Given the description of an element on the screen output the (x, y) to click on. 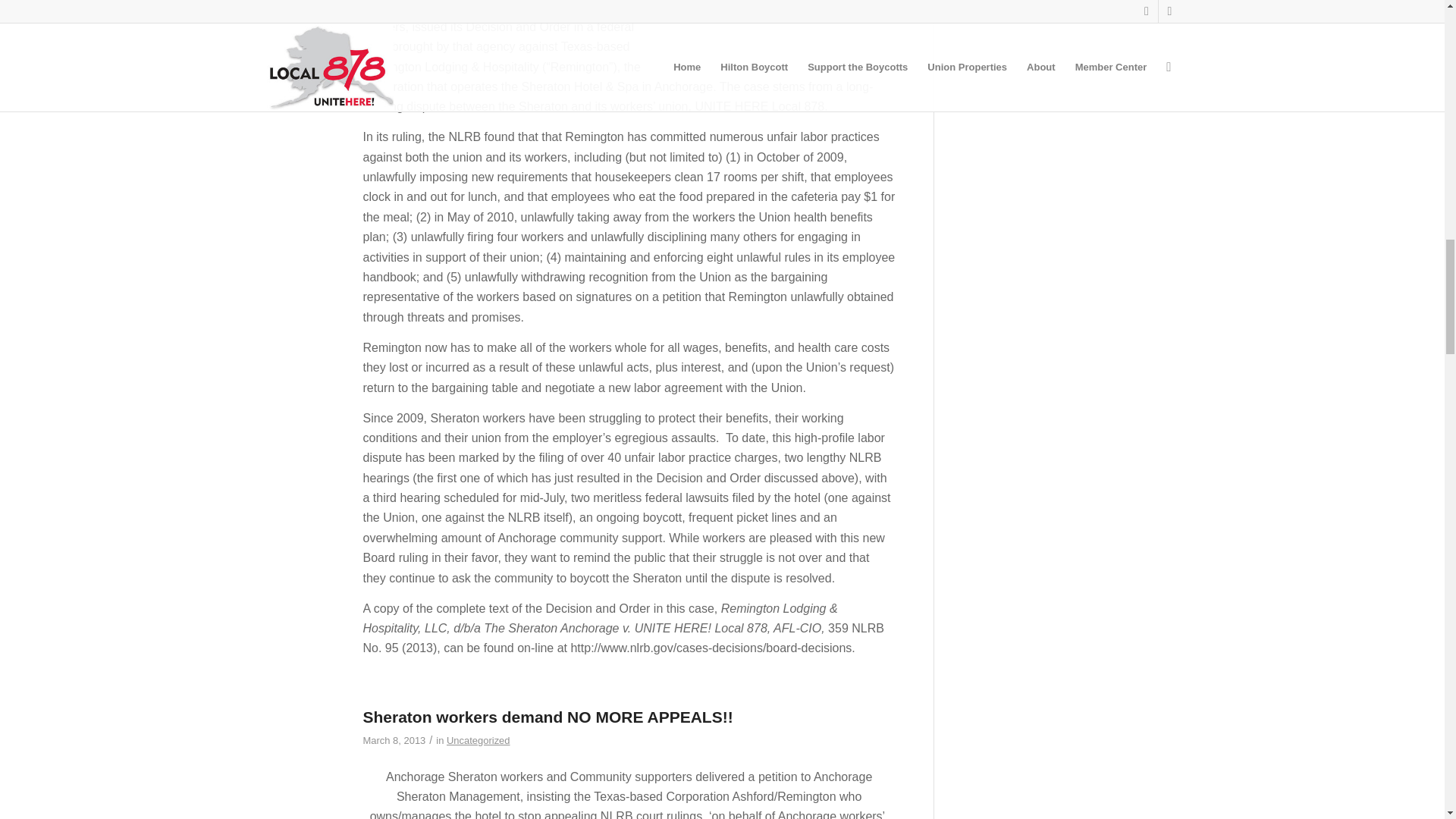
Sheraton picket (781, 30)
Sheraton workers demand NO MORE APPEALS!! (293, 742)
Permanent Link: Sheraton workers demand NO MORE APPEALS!! (547, 716)
